Given the description of an element on the screen output the (x, y) to click on. 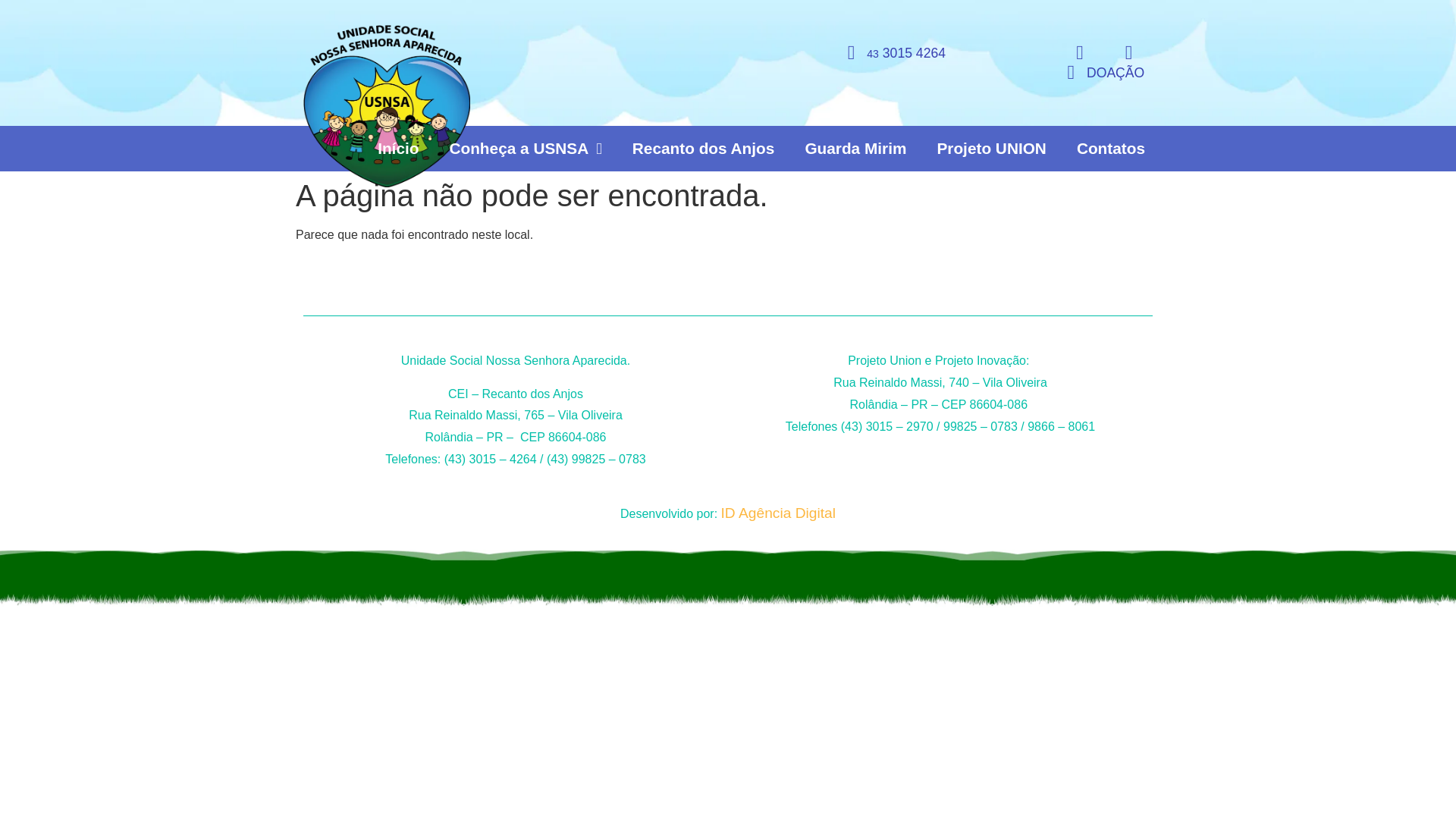
Guarda Mirim (855, 149)
Projeto UNION (991, 149)
Recanto dos Anjos (703, 149)
Contatos (1110, 149)
43 3015 4264 (886, 53)
